Given the description of an element on the screen output the (x, y) to click on. 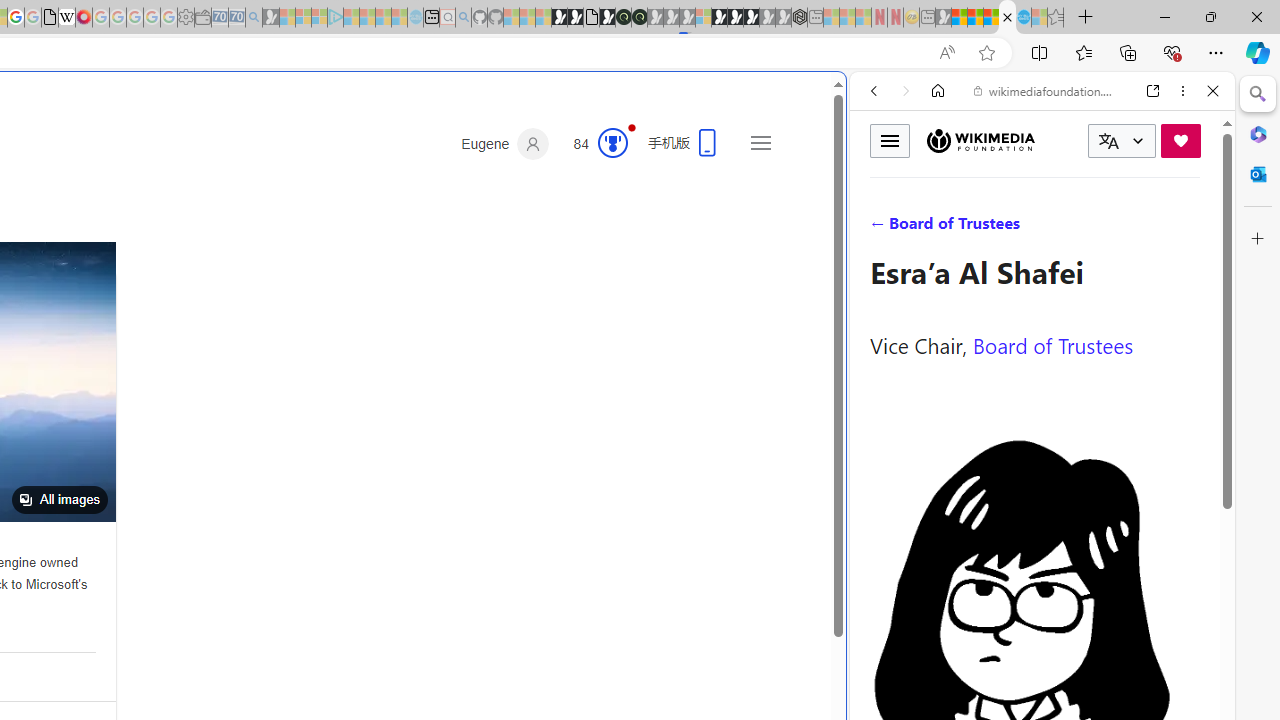
Search the web (1051, 137)
All images (59, 500)
Search Filter, IMAGES (939, 228)
Web scope (882, 180)
Search Filter, Search Tools (1093, 228)
WEB   (882, 228)
